Given the description of an element on the screen output the (x, y) to click on. 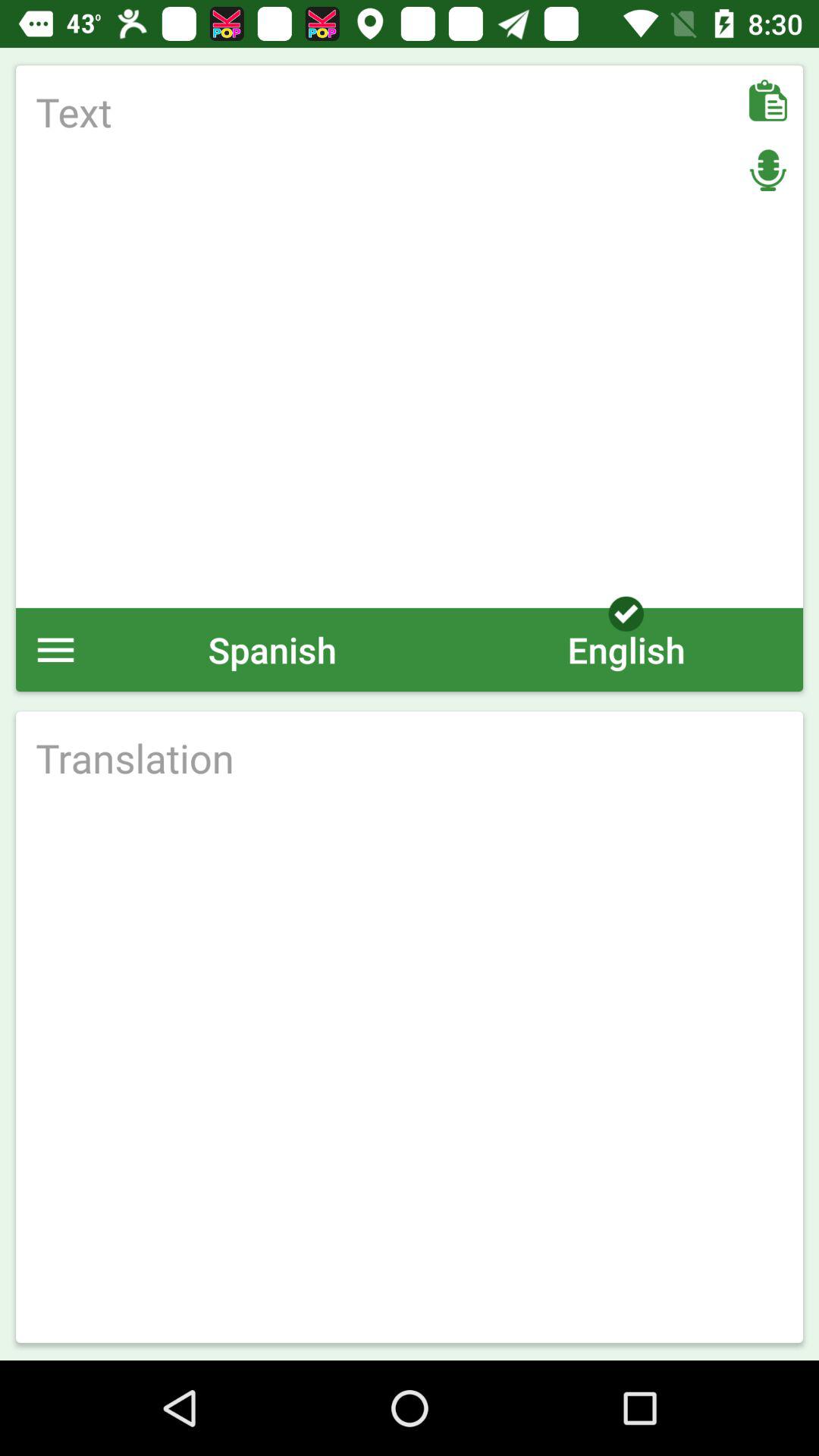
jump to the spanish item (272, 649)
